Given the description of an element on the screen output the (x, y) to click on. 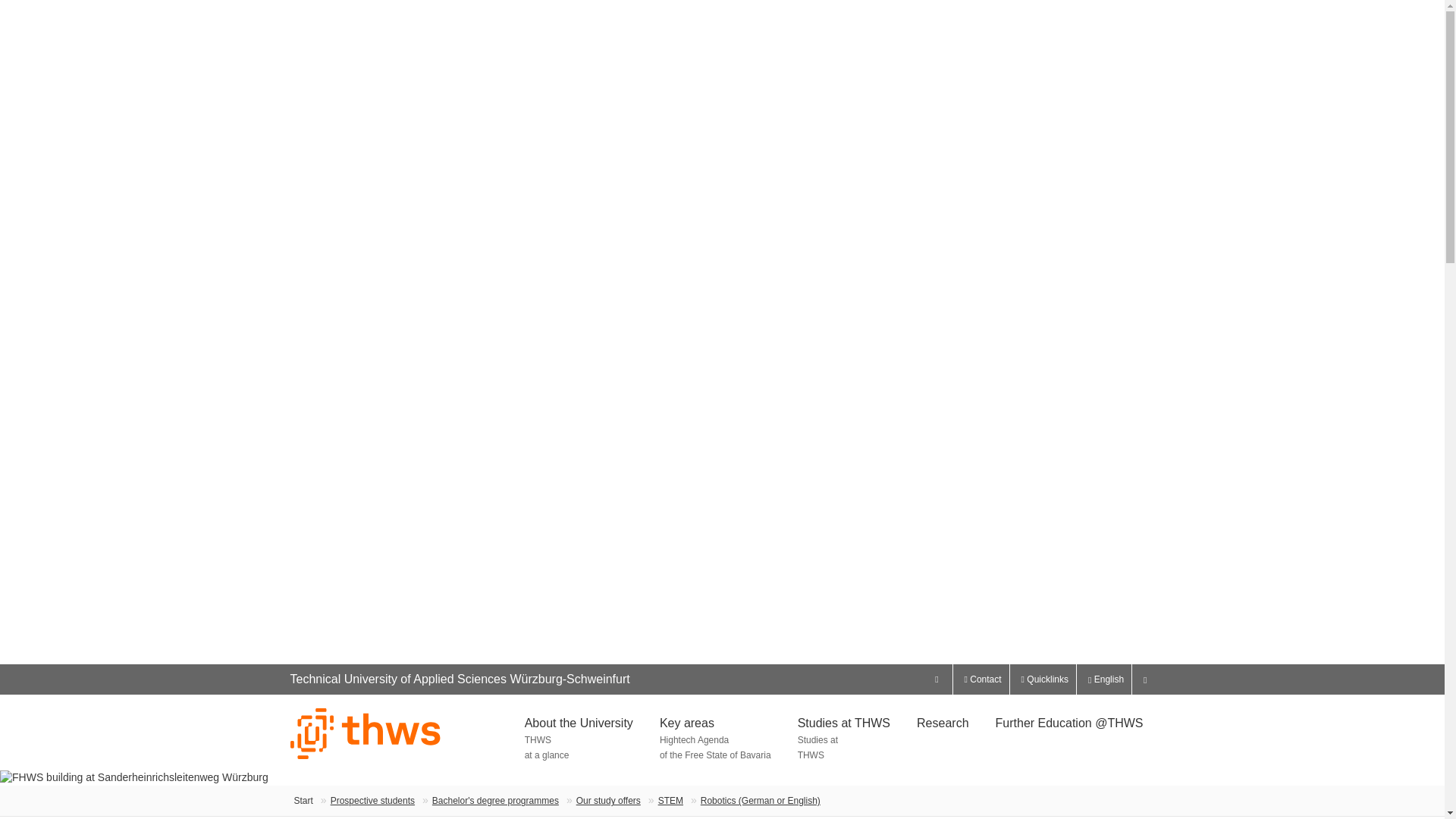
Go to page: Prospective students (372, 800)
You are currently on this page (751, 800)
Go to page: STEM (670, 800)
Go to page: Our study offers (608, 800)
Go to page: Bachelor's degree programmes (495, 800)
To home page (303, 800)
